Given the description of an element on the screen output the (x, y) to click on. 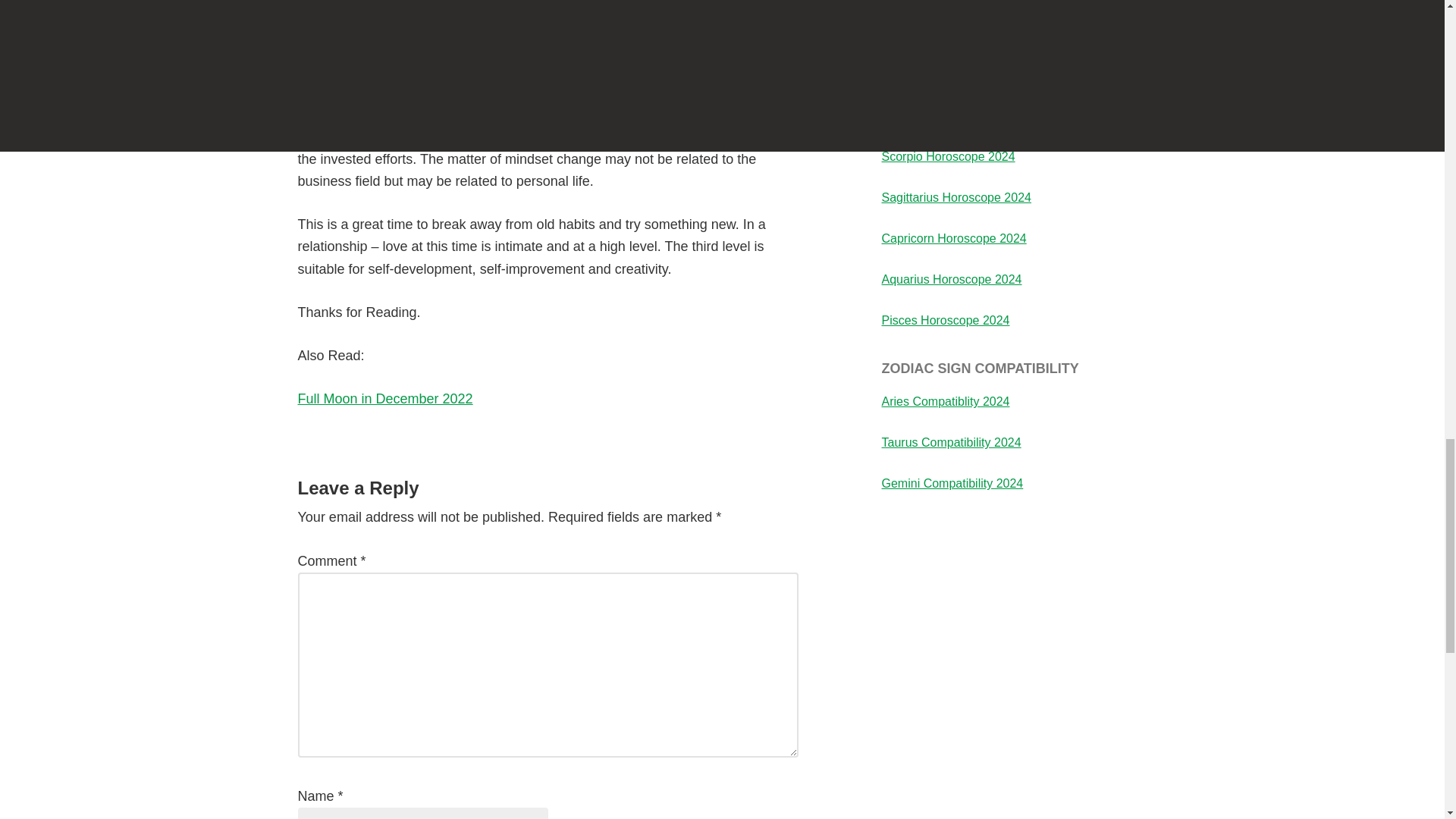
Sagittarius Horoscope 2024 (955, 196)
Aquarius Horoscope 2024 (951, 278)
Capricorn Horoscope 2024 (953, 237)
Libra Horoscope 2024 (940, 115)
Full Moon in December 2022 (384, 398)
Scorpio Horoscope 2024 (947, 155)
Virgo Horoscope 2024 (940, 74)
Leo Horoscope 2024 (937, 33)
